Given the description of an element on the screen output the (x, y) to click on. 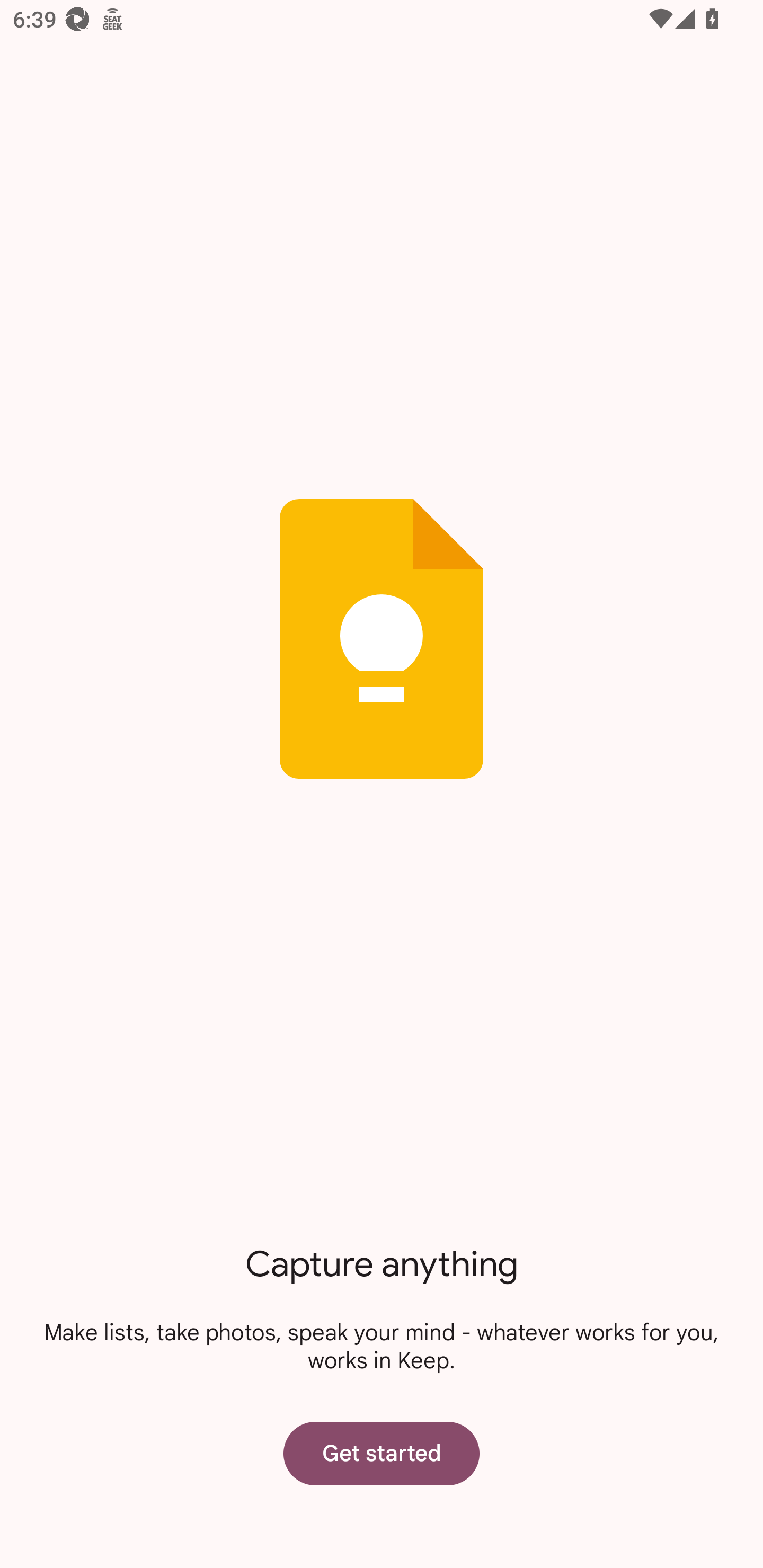
Get started (381, 1453)
